Given the description of an element on the screen output the (x, y) to click on. 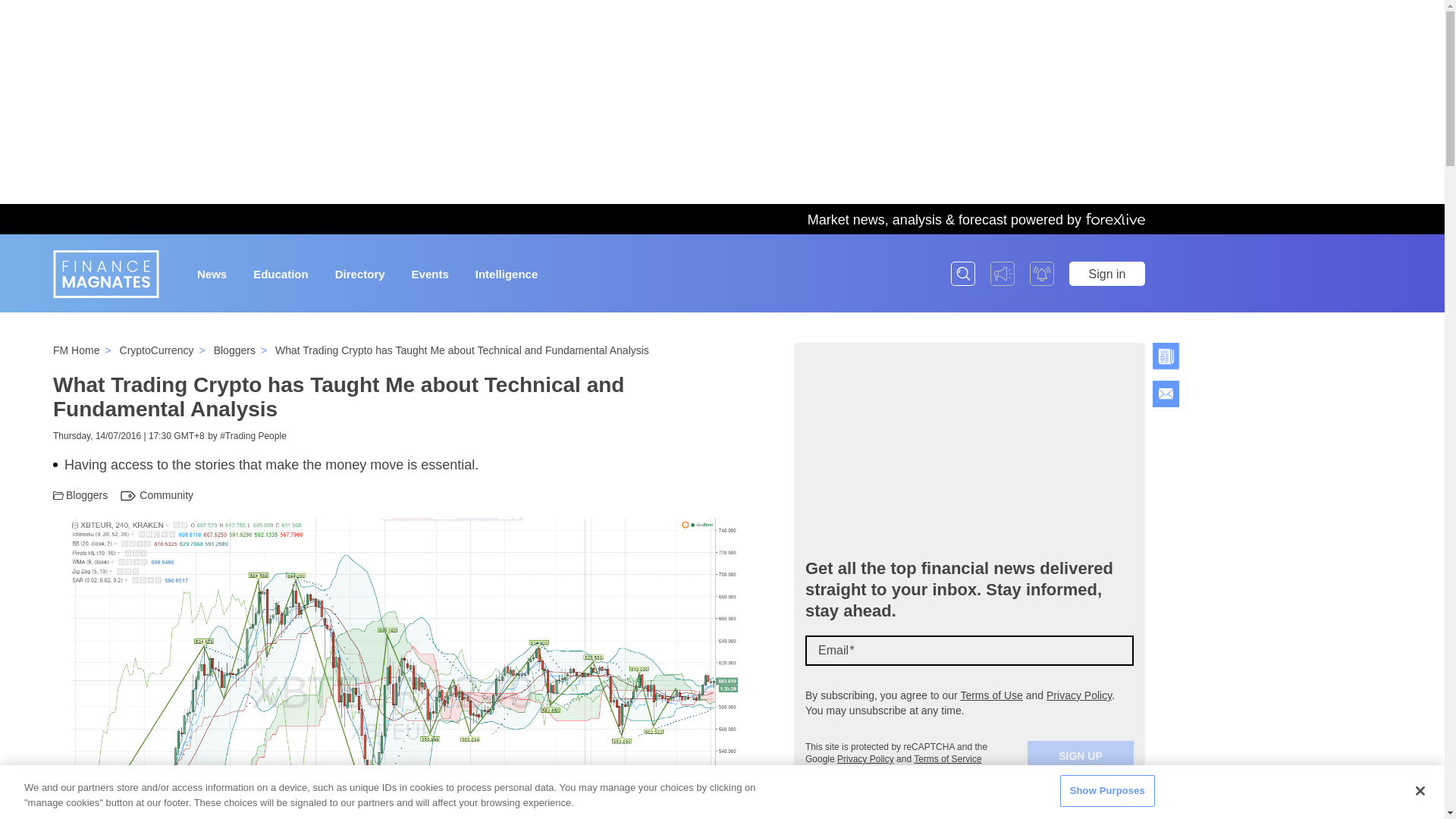
Financial and Business News (105, 274)
Intelligence (507, 273)
Education (280, 273)
Sign in (1106, 273)
Events (430, 273)
Directory (359, 273)
